Given the description of an element on the screen output the (x, y) to click on. 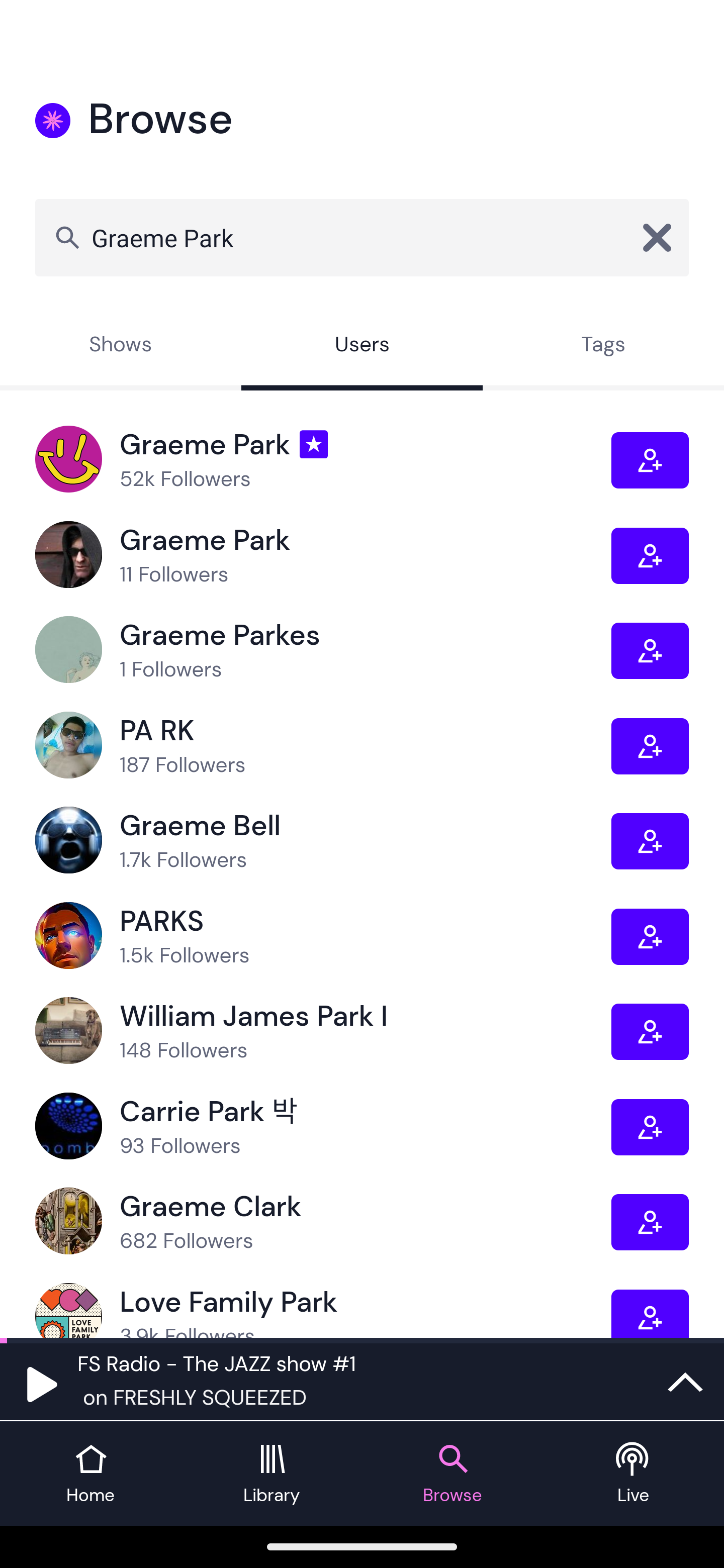
Graeme Park (361, 237)
Shows (120, 346)
Users (361, 346)
Tags (603, 346)
Follow (649, 460)
Graeme Park, 11 Followers Graeme Park 11 Followers (323, 554)
Follow (649, 555)
Follow (649, 650)
PA RK, 187 Followers PA RK 187 Followers (323, 745)
Follow (649, 746)
Follow (649, 840)
PARKS, 1.5k Followers PARKS 1.5k Followers (323, 935)
Follow (649, 935)
Follow (649, 1031)
Follow (649, 1127)
Follow (649, 1221)
Follow (649, 1312)
Home tab Home (90, 1473)
Library tab Library (271, 1473)
Browse tab Browse (452, 1473)
Live tab Live (633, 1473)
